Given the description of an element on the screen output the (x, y) to click on. 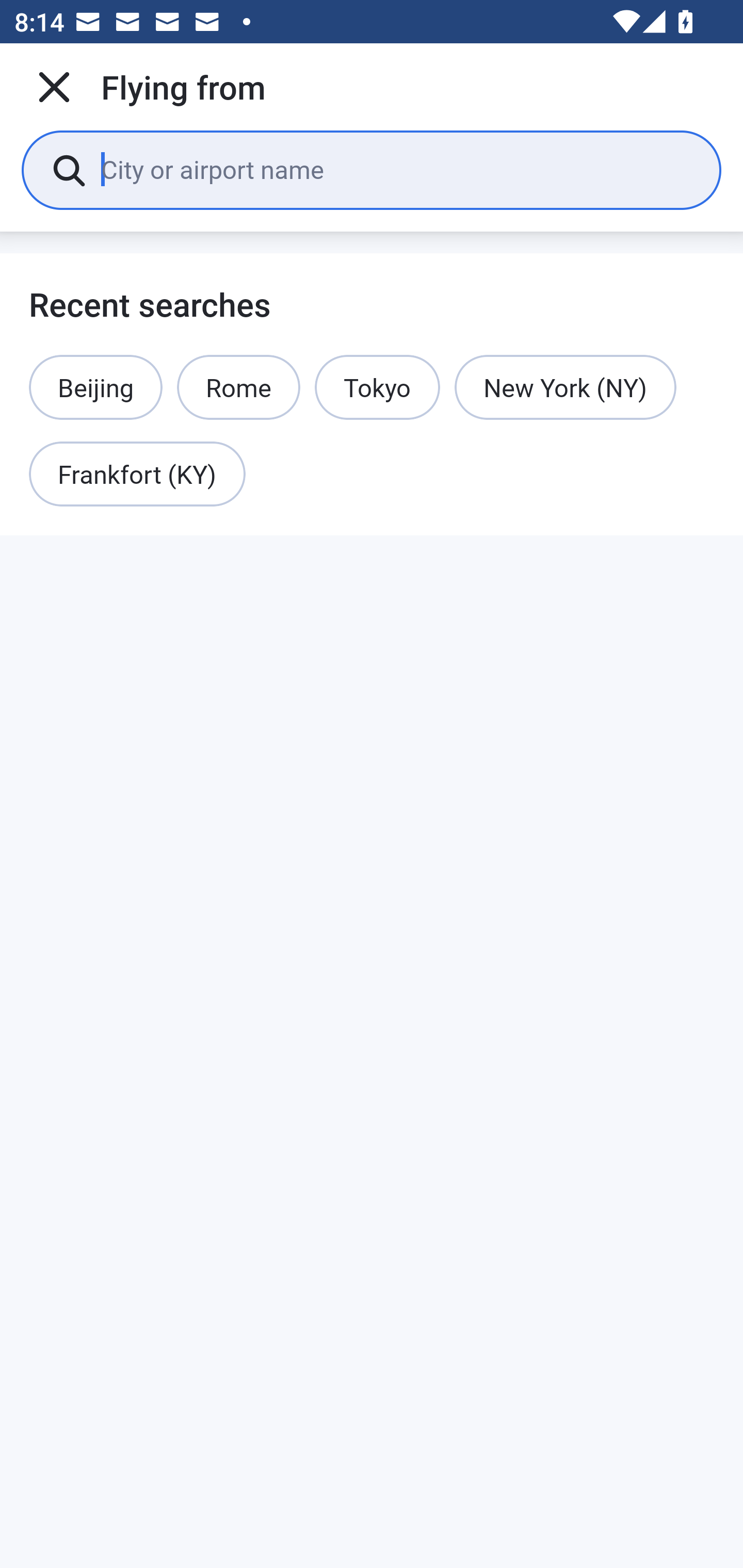
City or airport name (396, 169)
Beijing (95, 387)
Rome (238, 387)
Tokyo (377, 387)
New York (NY) (565, 387)
Frankfort (KY) (136, 474)
